Given the description of an element on the screen output the (x, y) to click on. 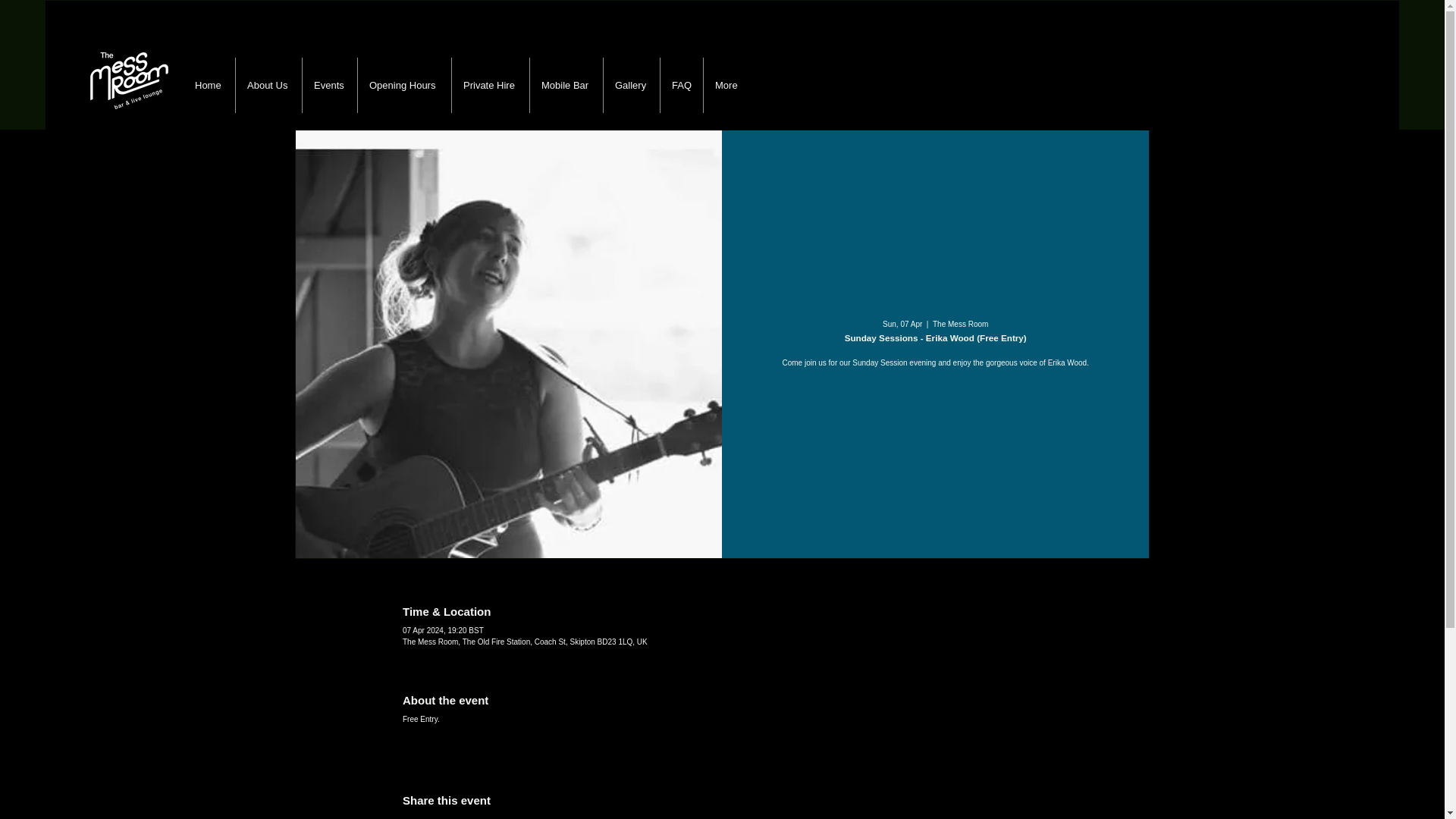
Opening Hours (403, 85)
Home (208, 85)
Gallery (630, 85)
Mobile Bar (565, 85)
Events (328, 85)
About Us (267, 85)
Private Hire (490, 85)
